Given the description of an element on the screen output the (x, y) to click on. 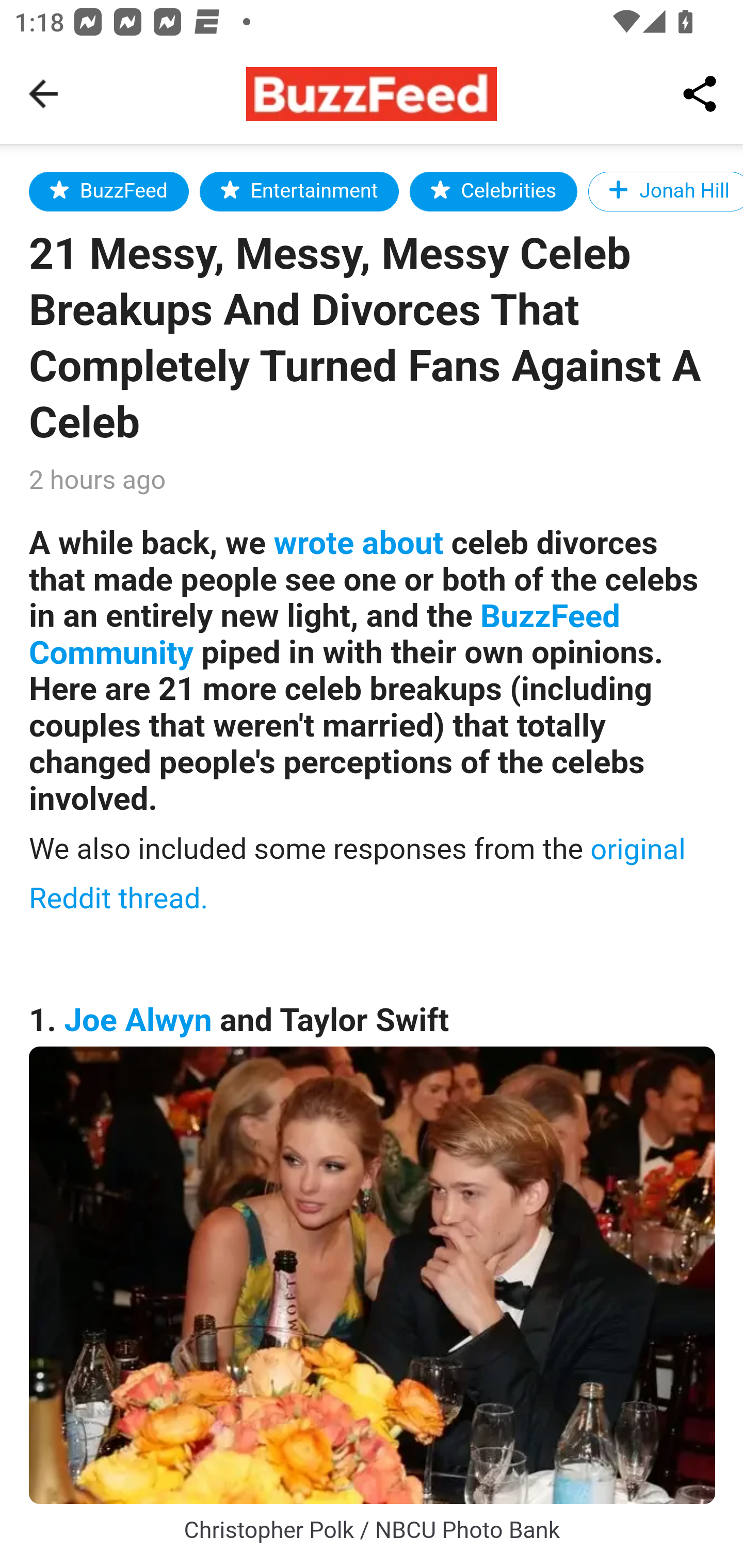
BuzzFeed (108, 191)
Entertainment (299, 191)
Celebrities (492, 191)
Jonah Hill (664, 191)
wrote about (358, 542)
BuzzFeed Community (324, 635)
original Reddit thread. (357, 872)
Joe Alwyn (138, 1020)
